Given the description of an element on the screen output the (x, y) to click on. 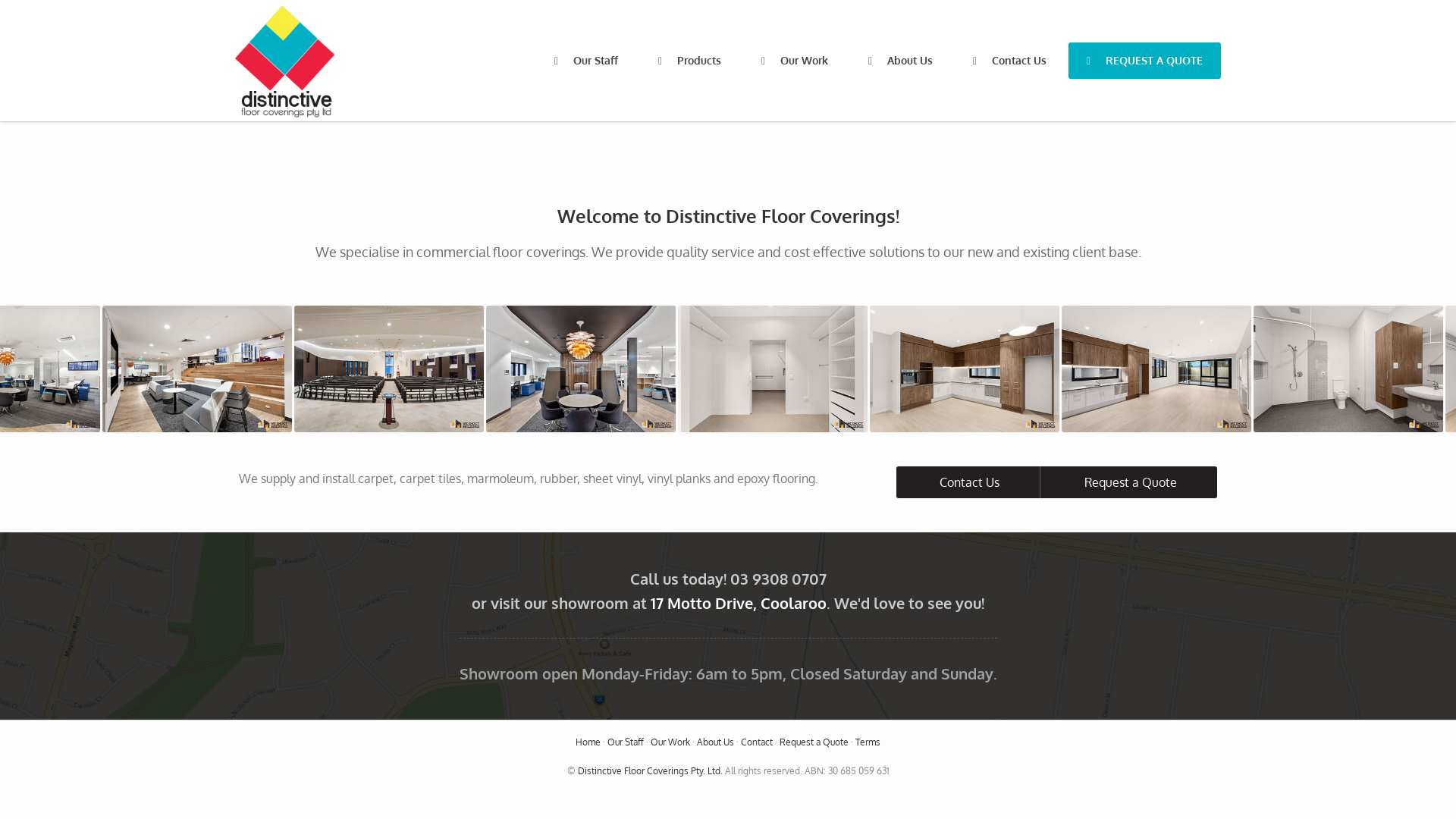
Home Element type: text (587, 741)
About Us Element type: text (715, 741)
Contact Us Element type: text (968, 482)
17 Motto Drive, Coolaroo Element type: text (738, 602)
Our Staff Element type: text (586, 60)
Our Work Element type: text (670, 741)
Terms Element type: text (867, 741)
REQUEST A QUOTE Element type: text (1144, 60)
Products Element type: text (689, 60)
Request a Quote Element type: text (813, 741)
Contact Us Element type: text (1009, 60)
Request a Quote Element type: text (1128, 482)
About Us Element type: text (900, 60)
Distinctive Floor Coverings Pty. Ltd. Element type: text (649, 770)
Our Staff Element type: text (625, 741)
Our Work Element type: text (794, 60)
Contact Element type: text (756, 741)
